Given the description of an element on the screen output the (x, y) to click on. 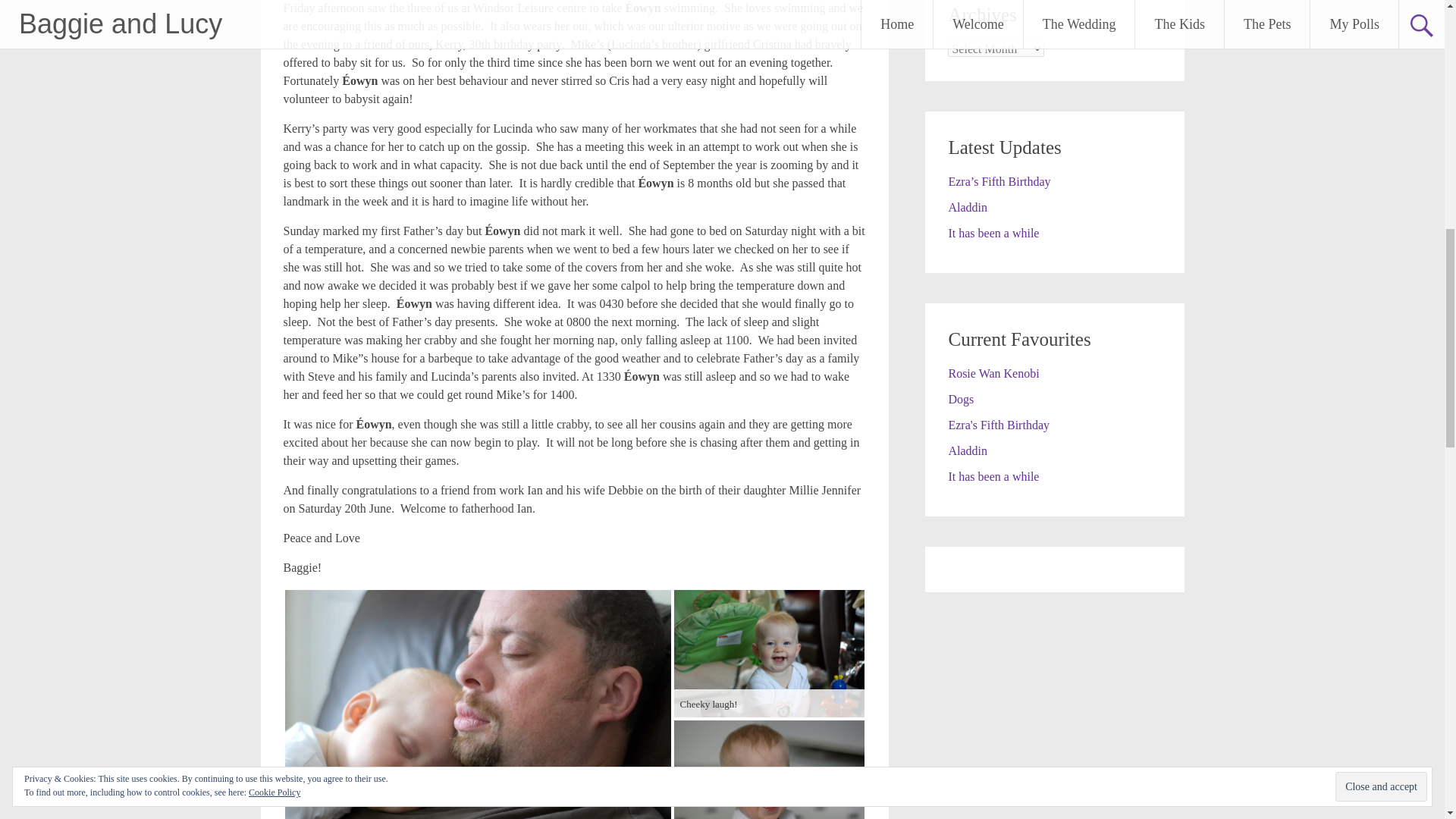
Cheeky laugh! (767, 653)
Like father, like daughter (478, 704)
That's funny! (767, 769)
